Given the description of an element on the screen output the (x, y) to click on. 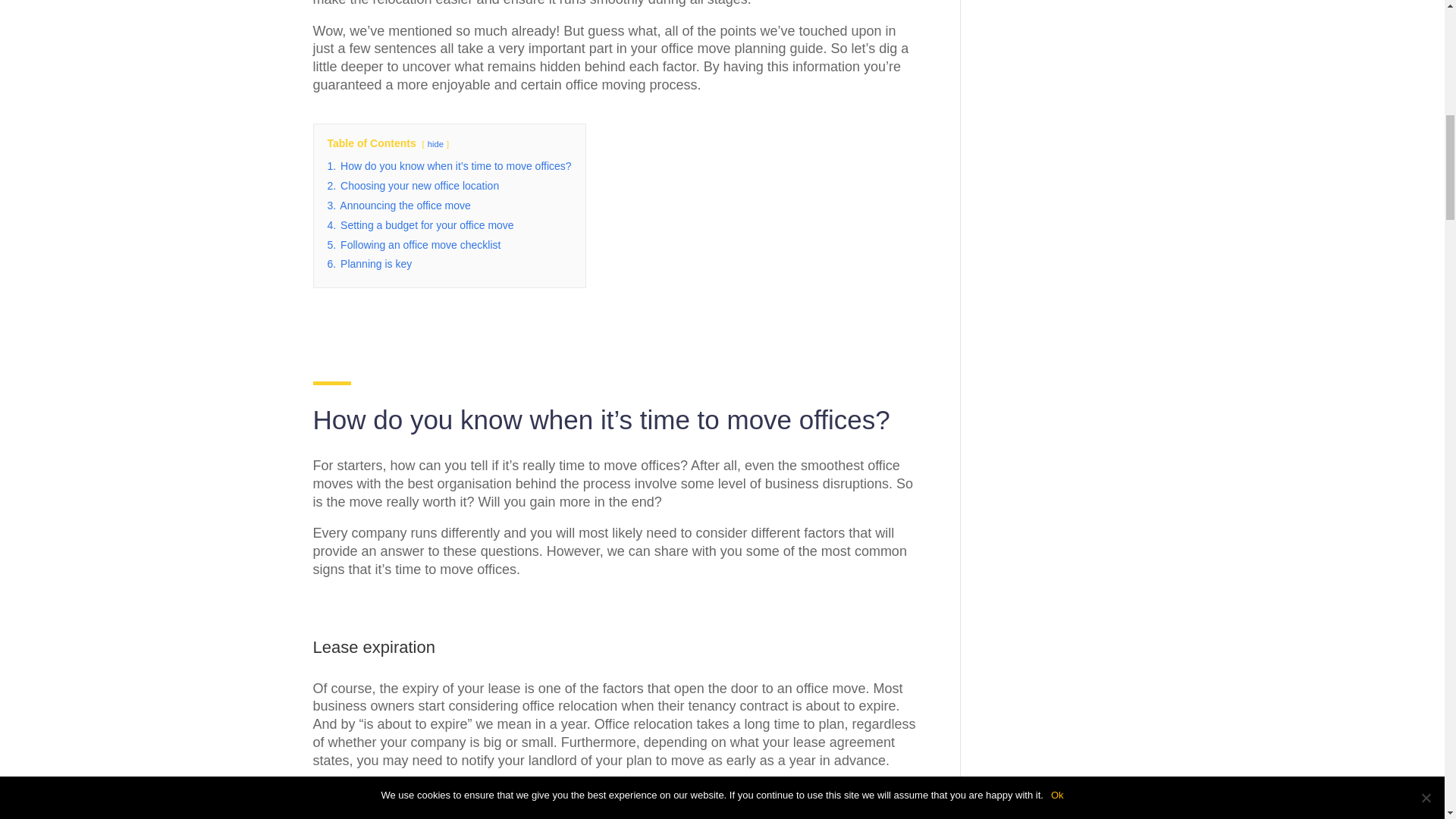
3. Announcing the office move (398, 205)
4. Setting a budget for your office move (420, 224)
5. Following an office move checklist (413, 244)
2. Choosing your new office location (413, 185)
hide (436, 143)
6. Planning is key (369, 263)
